Given the description of an element on the screen output the (x, y) to click on. 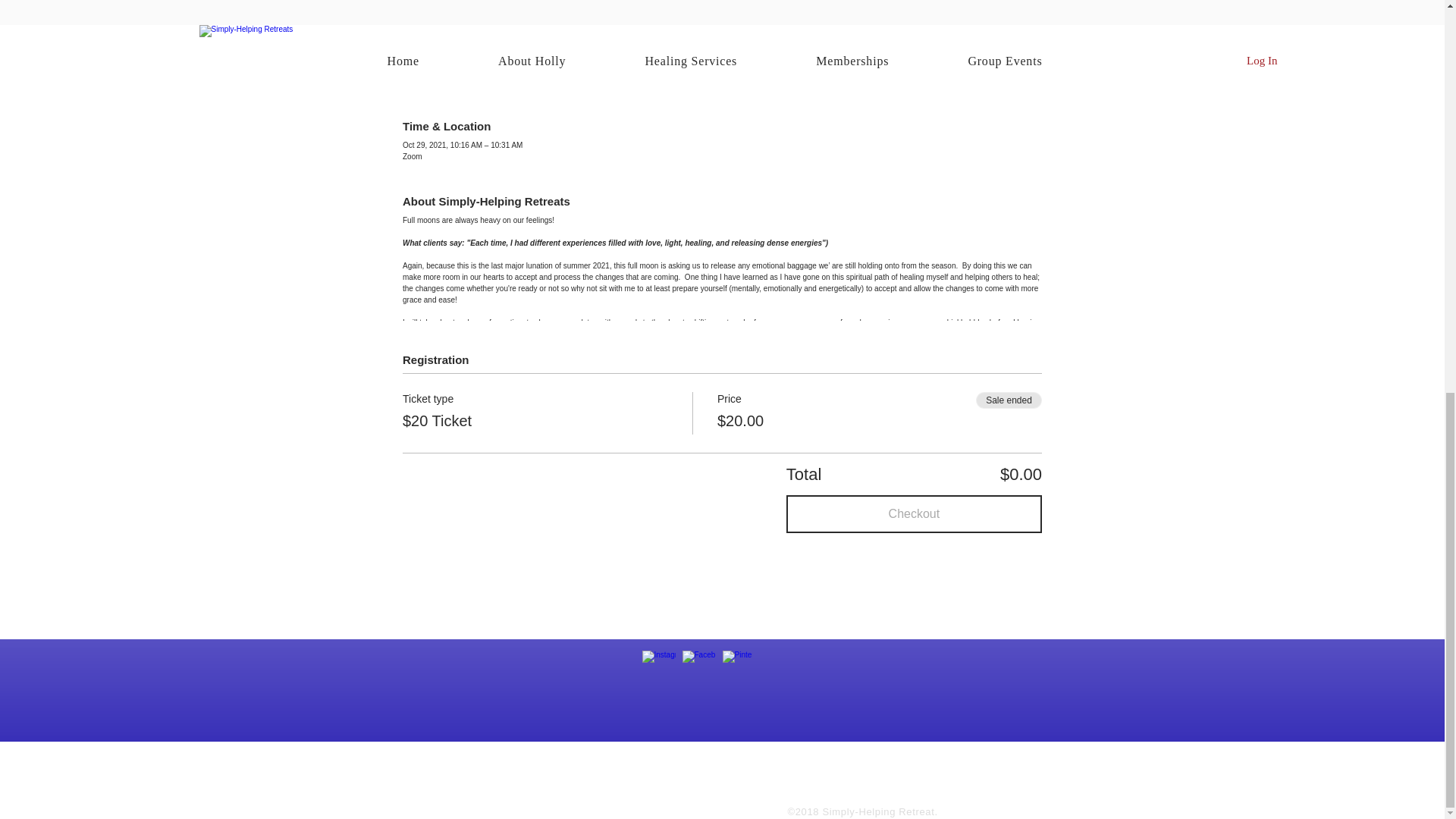
Checkout (914, 514)
